Given the description of an element on the screen output the (x, y) to click on. 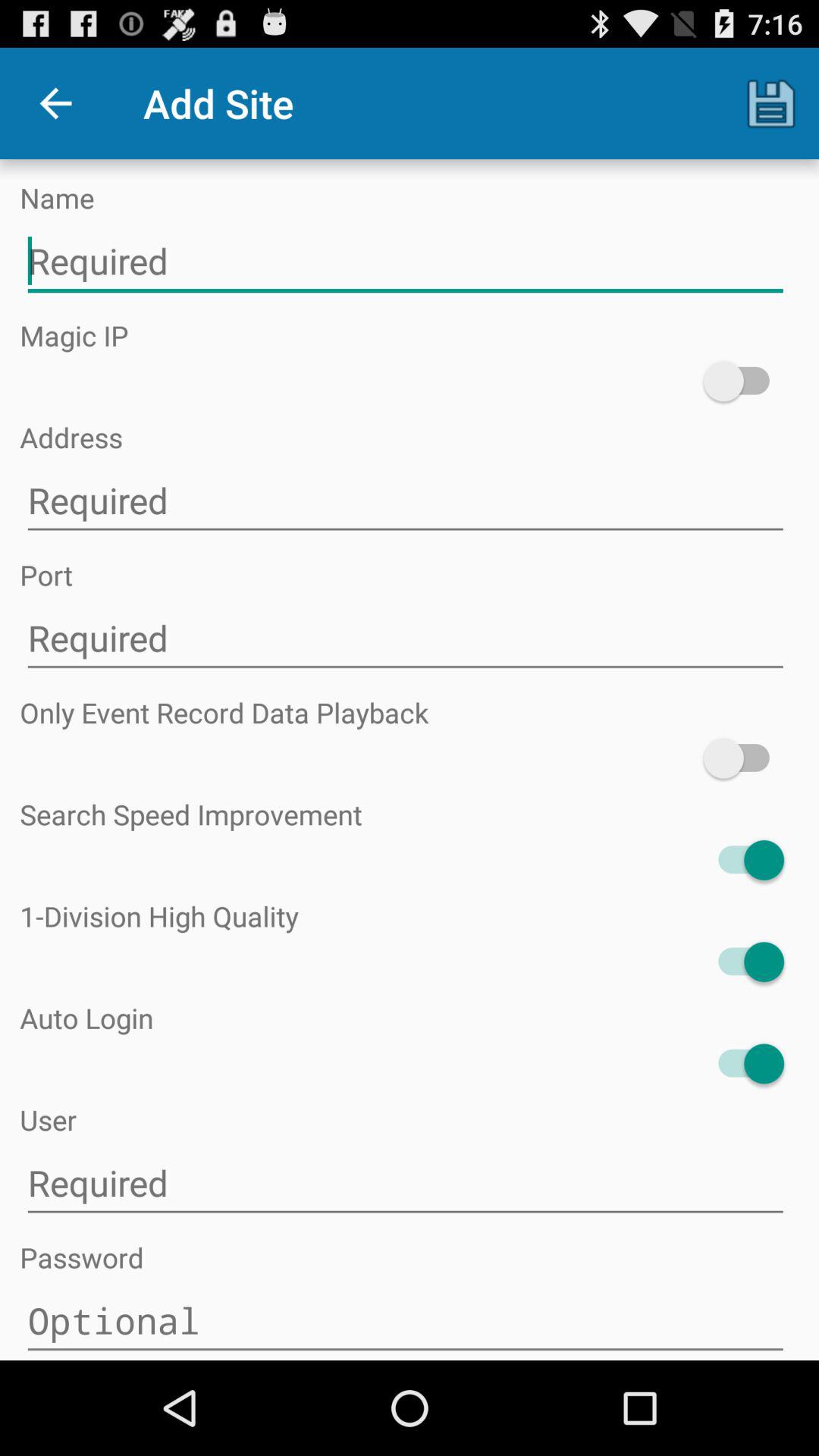
toggle on (743, 758)
